Given the description of an element on the screen output the (x, y) to click on. 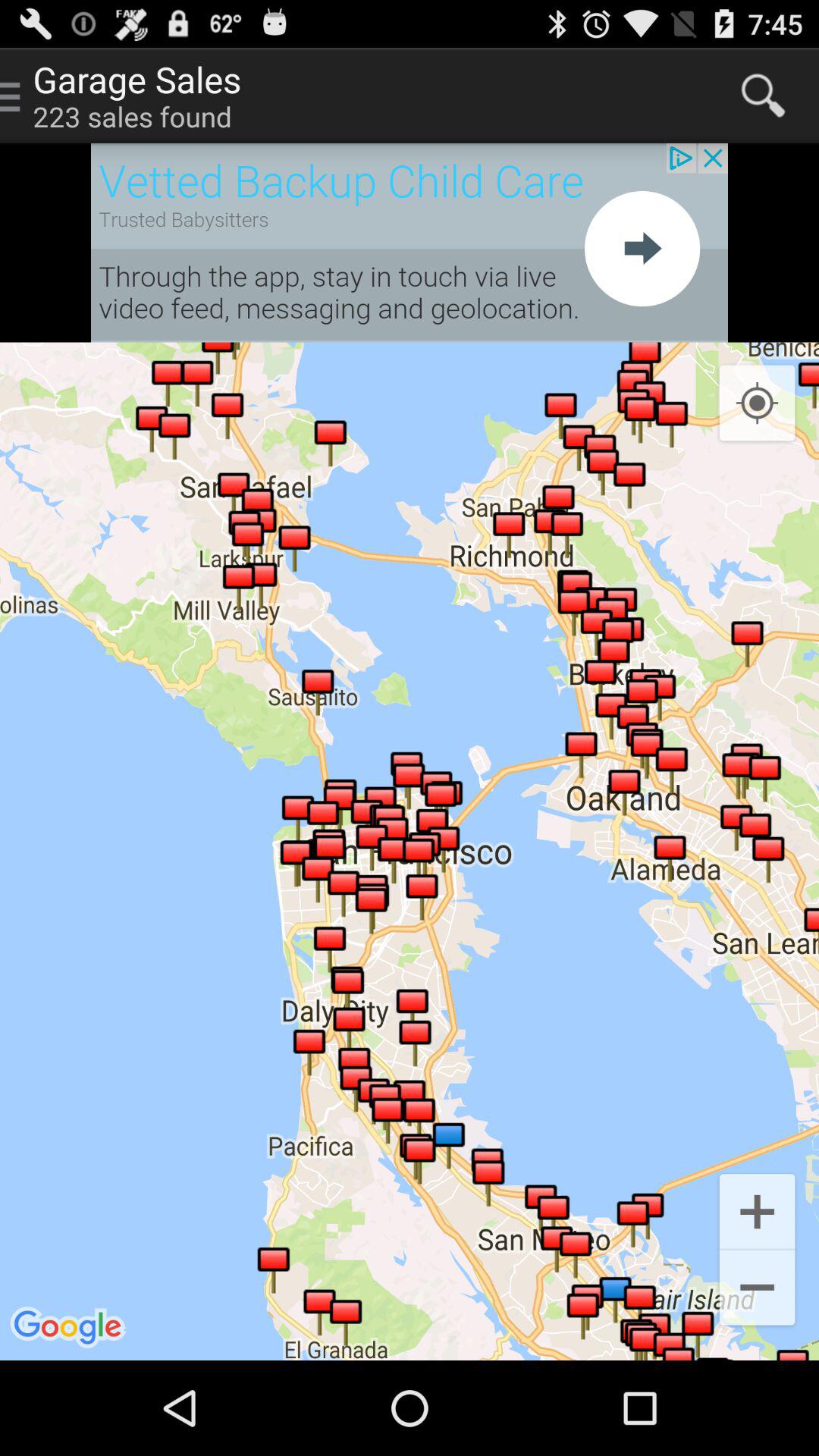
open browser (409, 242)
